Given the description of an element on the screen output the (x, y) to click on. 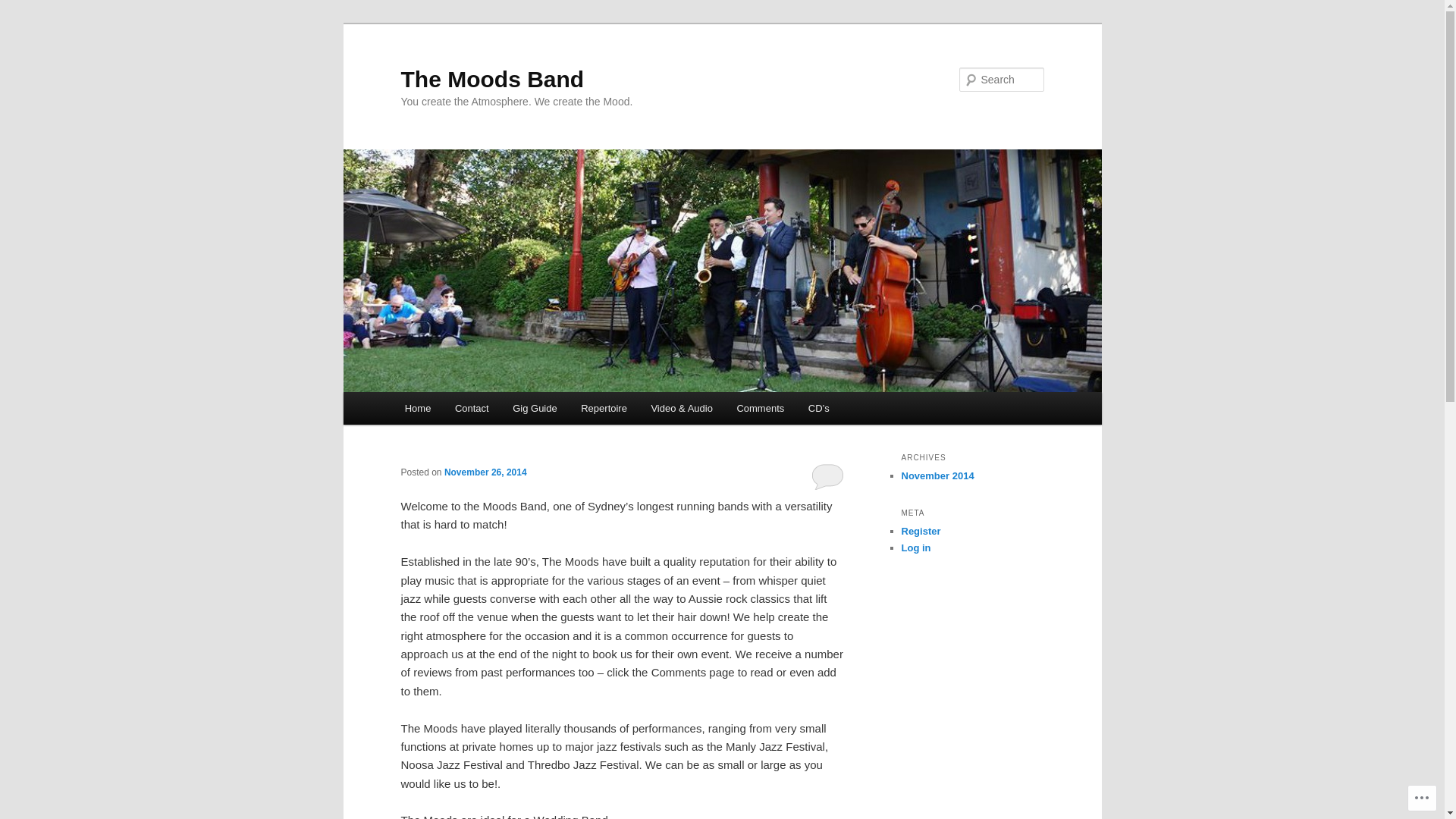
Comments Element type: text (760, 408)
Search Element type: text (24, 8)
Contact Element type: text (471, 408)
Home Element type: text (417, 408)
Video & Audio Element type: text (681, 408)
Log in Element type: text (915, 546)
Gig Guide Element type: text (534, 408)
Skip to primary content Element type: text (22, 22)
Register Element type: text (920, 530)
November 26, 2014 Element type: text (485, 472)
Repertoire Element type: text (603, 408)
November 2014 Element type: text (936, 475)
The Moods Band Element type: text (491, 78)
